Given the description of an element on the screen output the (x, y) to click on. 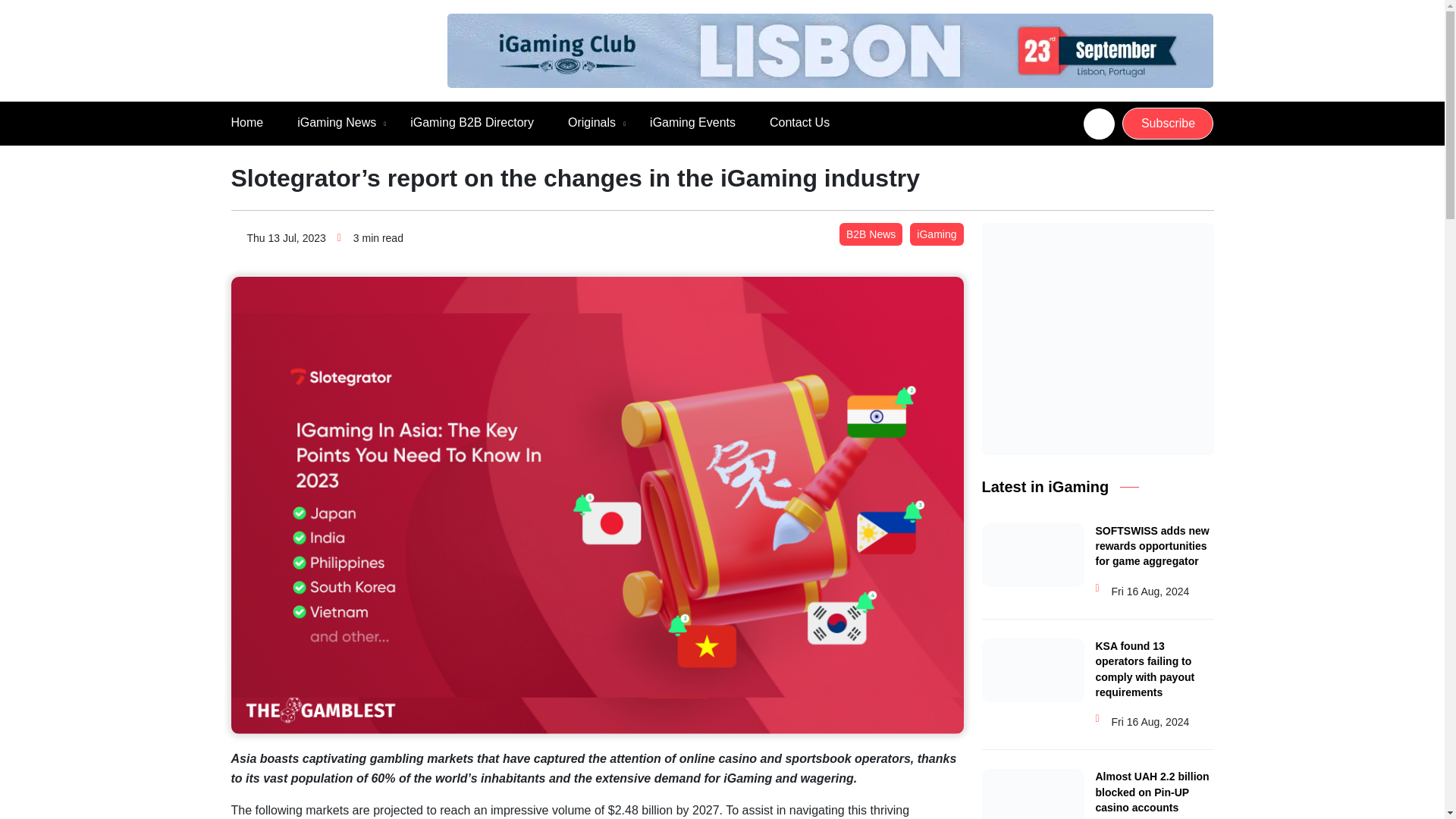
Originals (591, 123)
iGaming News (336, 123)
IGaming B2B Directory (472, 123)
Contact Us (799, 123)
iGaming Events (692, 123)
Contact Us (799, 123)
Subscribe (1167, 123)
iGaming News (336, 123)
1150x110 (829, 50)
iGaming (936, 233)
